Given the description of an element on the screen output the (x, y) to click on. 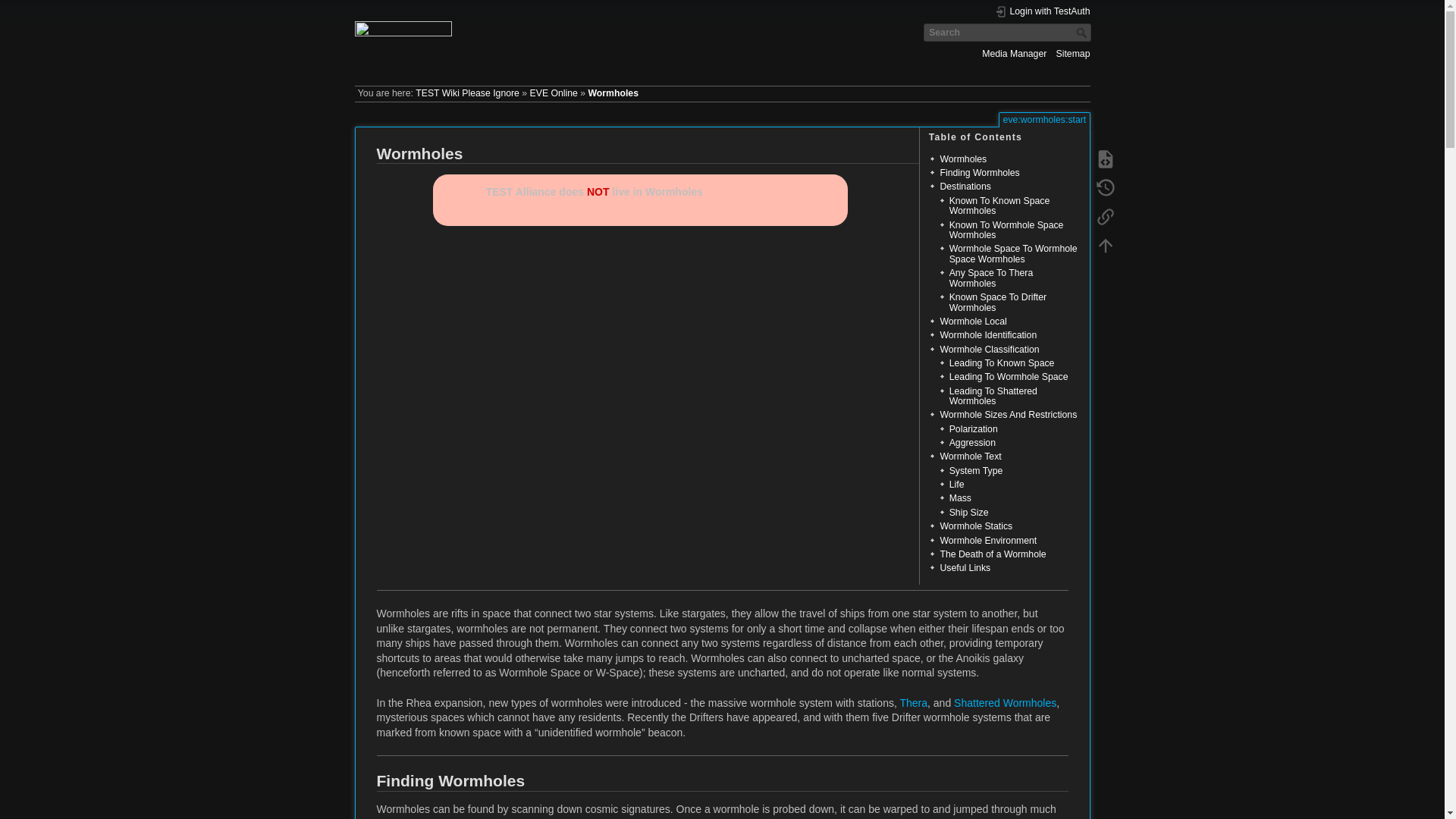
Leading To Known Space (1001, 362)
System Type (976, 470)
Wormholes (963, 158)
start (466, 92)
Known To Known Space Wormholes (999, 205)
Wormhole Environment (987, 540)
Wormhole Space To Wormhole Space Wormholes (1013, 253)
Aggression (972, 442)
Any Space To Thera Wormholes (991, 277)
Thera (913, 702)
Wormhole Sizes And Restrictions (1008, 414)
Known To Wormhole Space Wormholes (1006, 230)
Wormholes (613, 92)
Sitemap (1073, 53)
Life (956, 484)
